Given the description of an element on the screen output the (x, y) to click on. 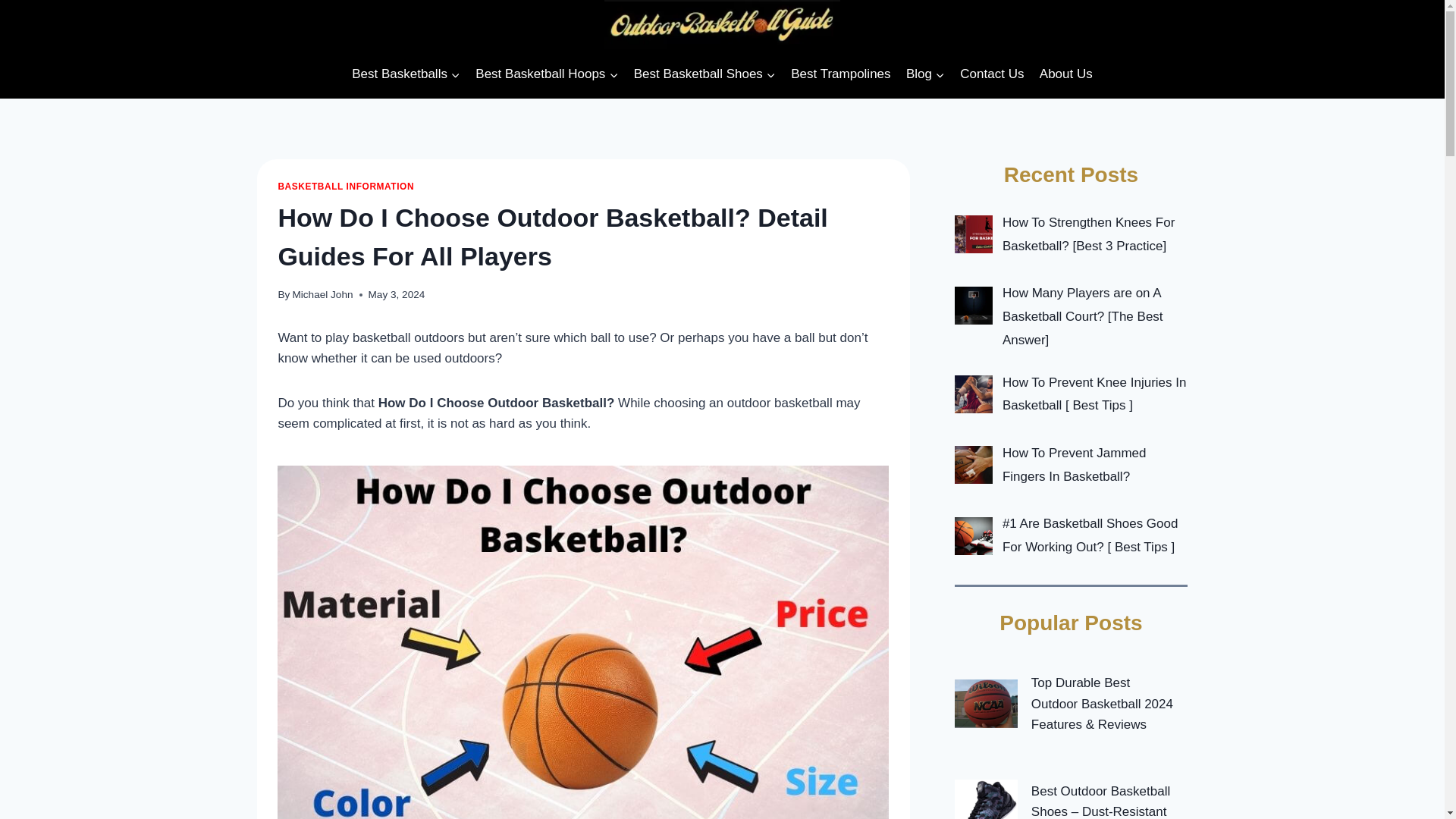
BASKETBALL INFORMATION (345, 185)
Contact Us (991, 74)
Blog (925, 74)
Best Basketball Shoes (704, 74)
Best Trampolines (840, 74)
Michael John (322, 294)
Best Basketballs (405, 74)
About Us (1066, 74)
Best Basketball Hoops (546, 74)
